Given the description of an element on the screen output the (x, y) to click on. 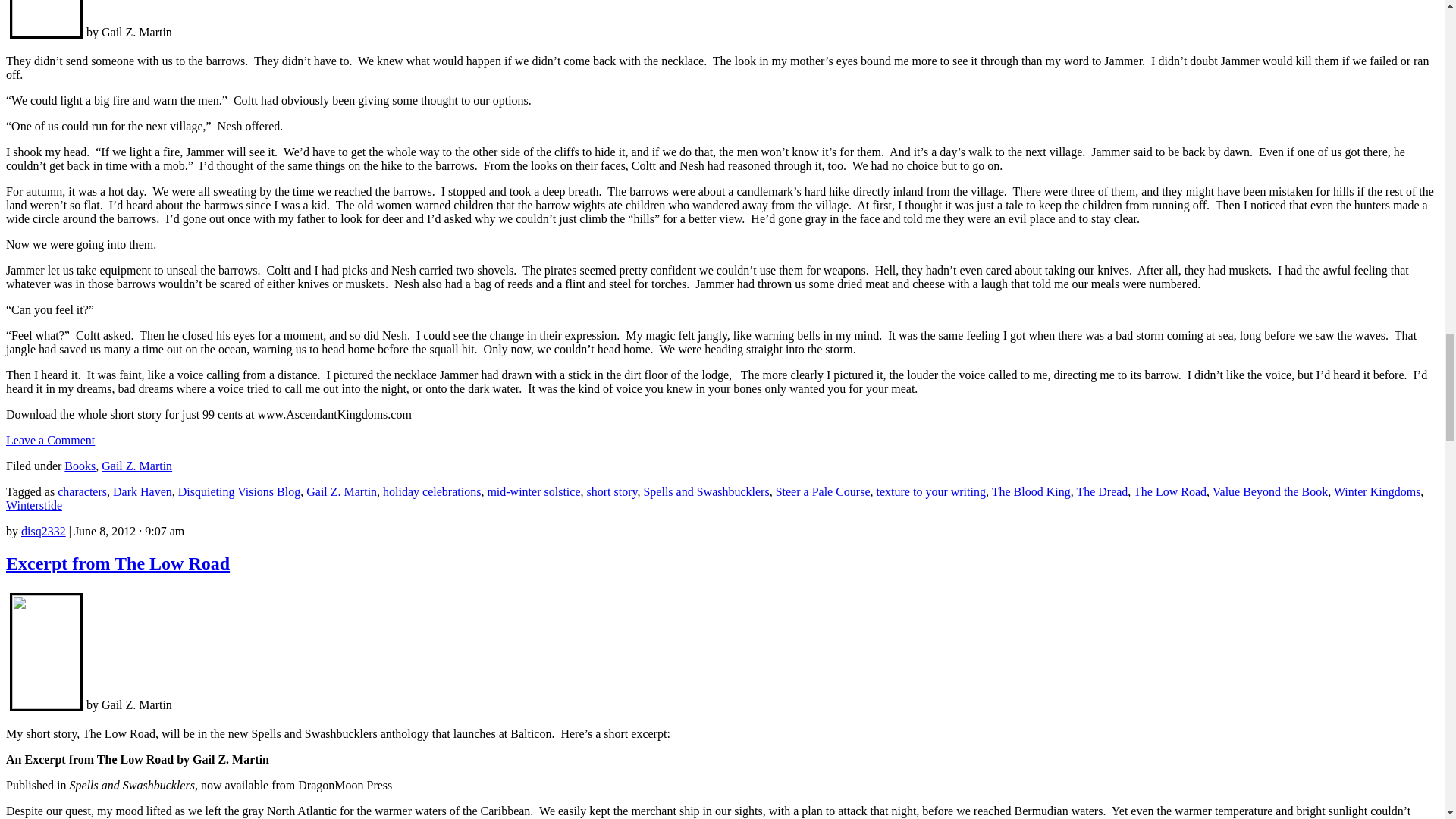
View all posts by disq2332 (43, 530)
